Given the description of an element on the screen output the (x, y) to click on. 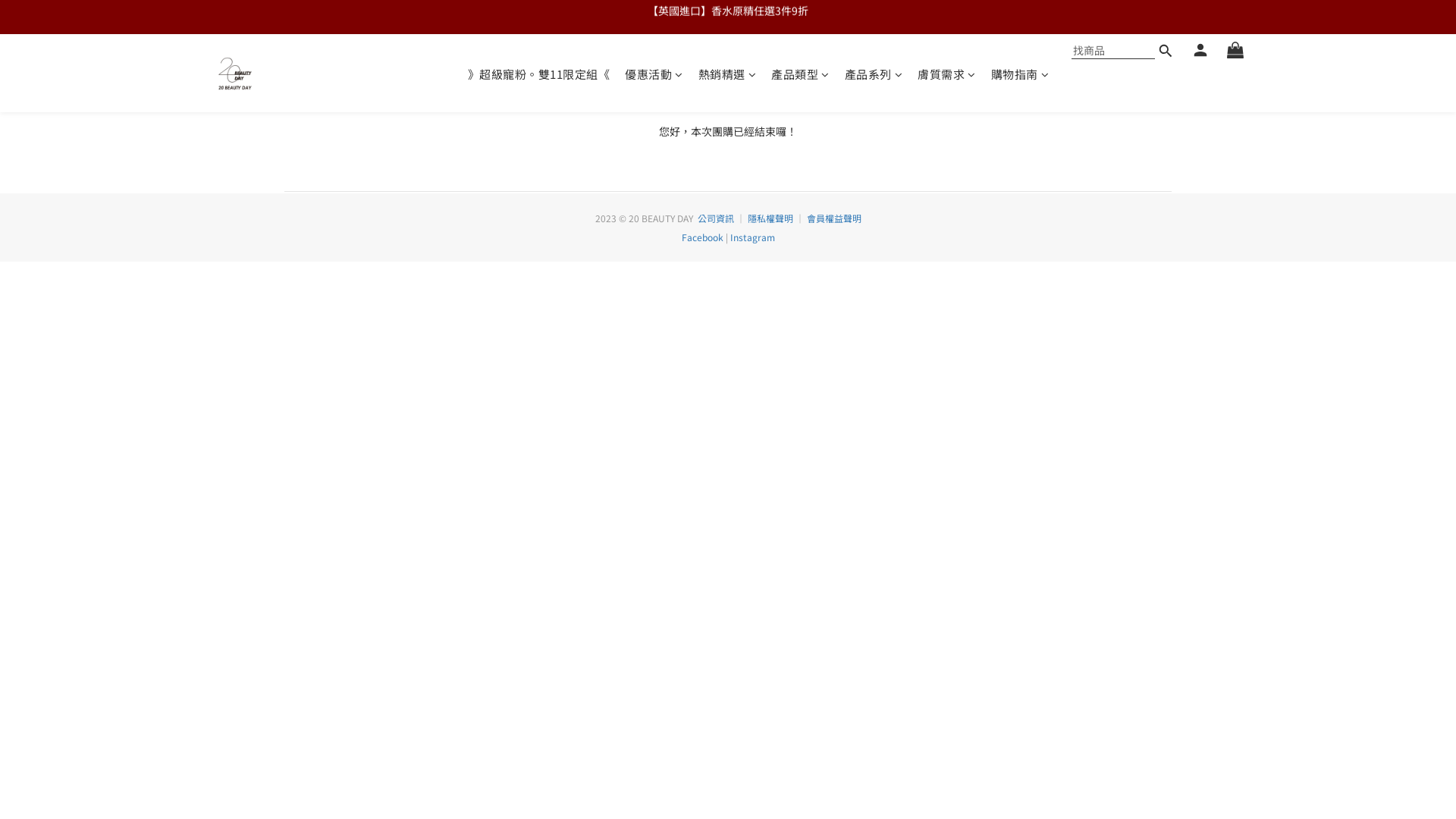
Instagram Element type: text (751, 236)
Facebook Element type: text (701, 236)
